Given the description of an element on the screen output the (x, y) to click on. 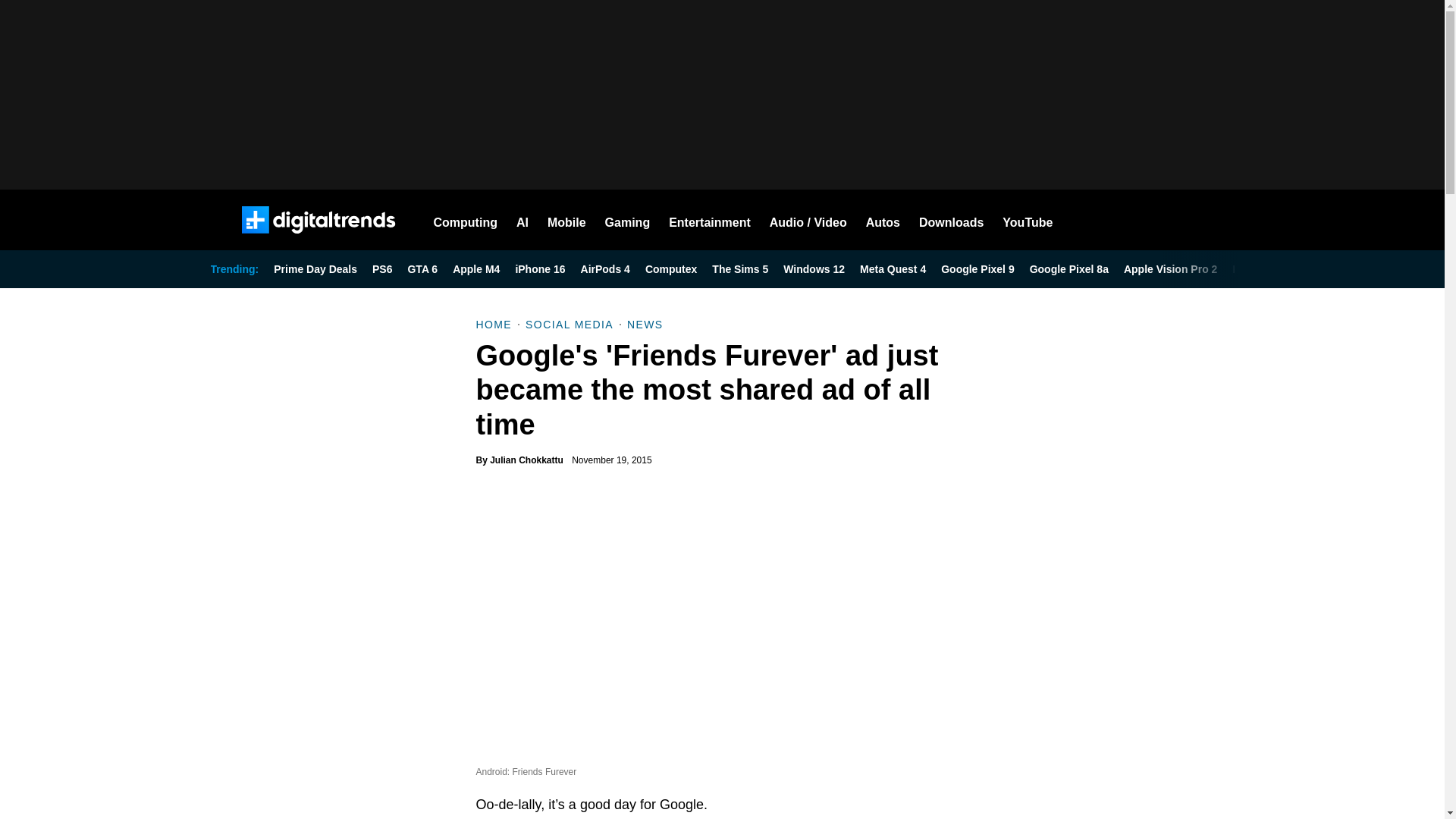
Entertainment (709, 219)
Gaming (627, 219)
Mobile (566, 219)
Downloads (951, 219)
YouTube (1027, 219)
Computing (465, 219)
Autos (882, 219)
AI (522, 219)
